Given the description of an element on the screen output the (x, y) to click on. 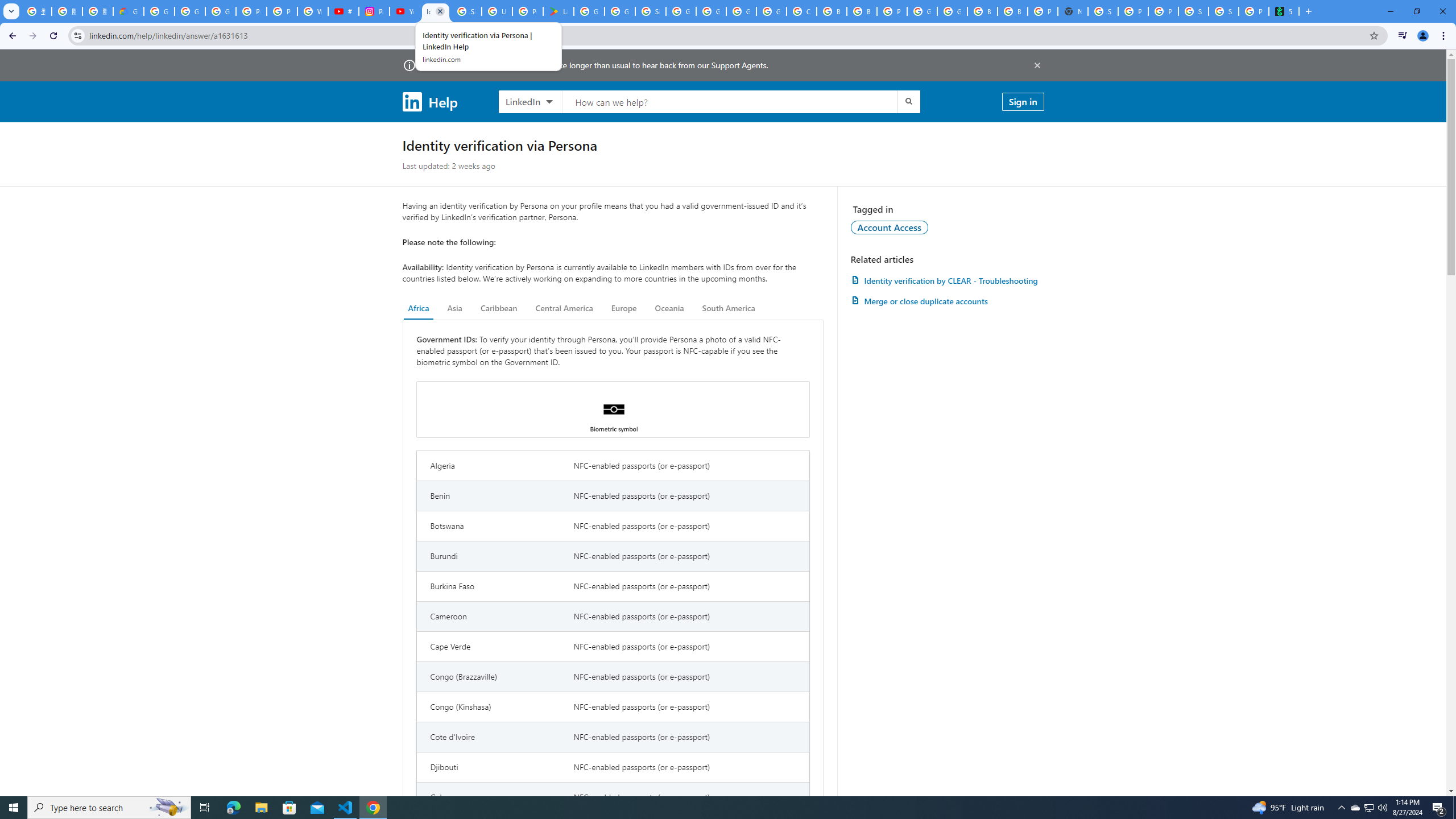
Address and search bar (725, 35)
Back (10, 35)
Account Access (889, 227)
Sign in - Google Accounts (1102, 11)
Central America (563, 308)
Minimize (1390, 11)
South America (728, 308)
Browse Chrome as a guest - Computer - Google Chrome Help (1012, 11)
System (6, 6)
New Tab (1308, 11)
Browse Chrome as a guest - Computer - Google Chrome Help (982, 11)
